Given the description of an element on the screen output the (x, y) to click on. 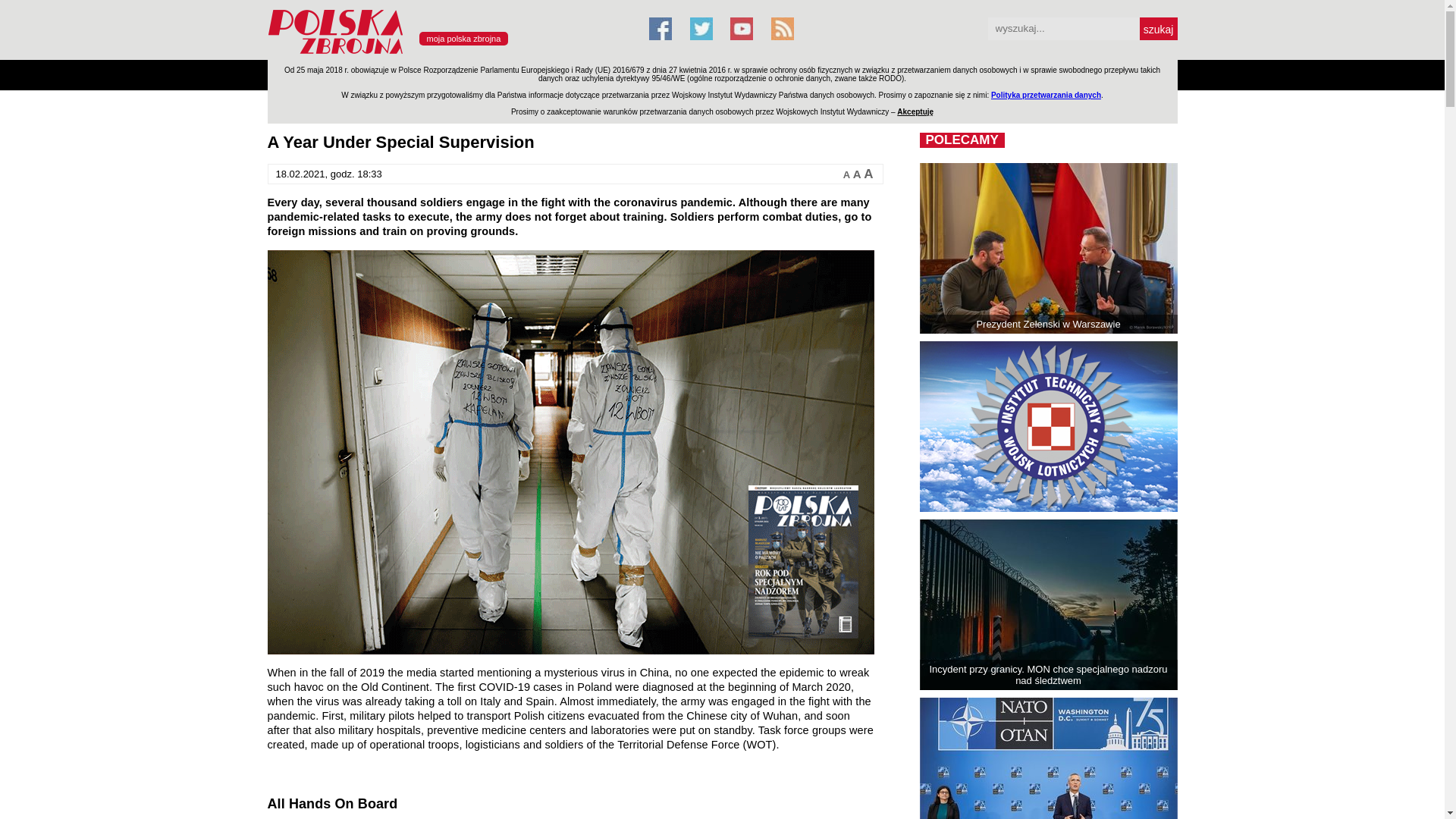
Facebook (660, 28)
Polityka przetwarzania danych (1045, 94)
Poligon (334, 74)
Armia (286, 74)
Wideo (829, 74)
szukaj (1157, 28)
Galerie (781, 74)
Sport (684, 74)
Polityka (473, 74)
Youtube (741, 28)
Twitter (701, 28)
Misje (426, 74)
Prawo (522, 74)
Historia (730, 74)
Polska Zbrojna (448, 53)
